Given the description of an element on the screen output the (x, y) to click on. 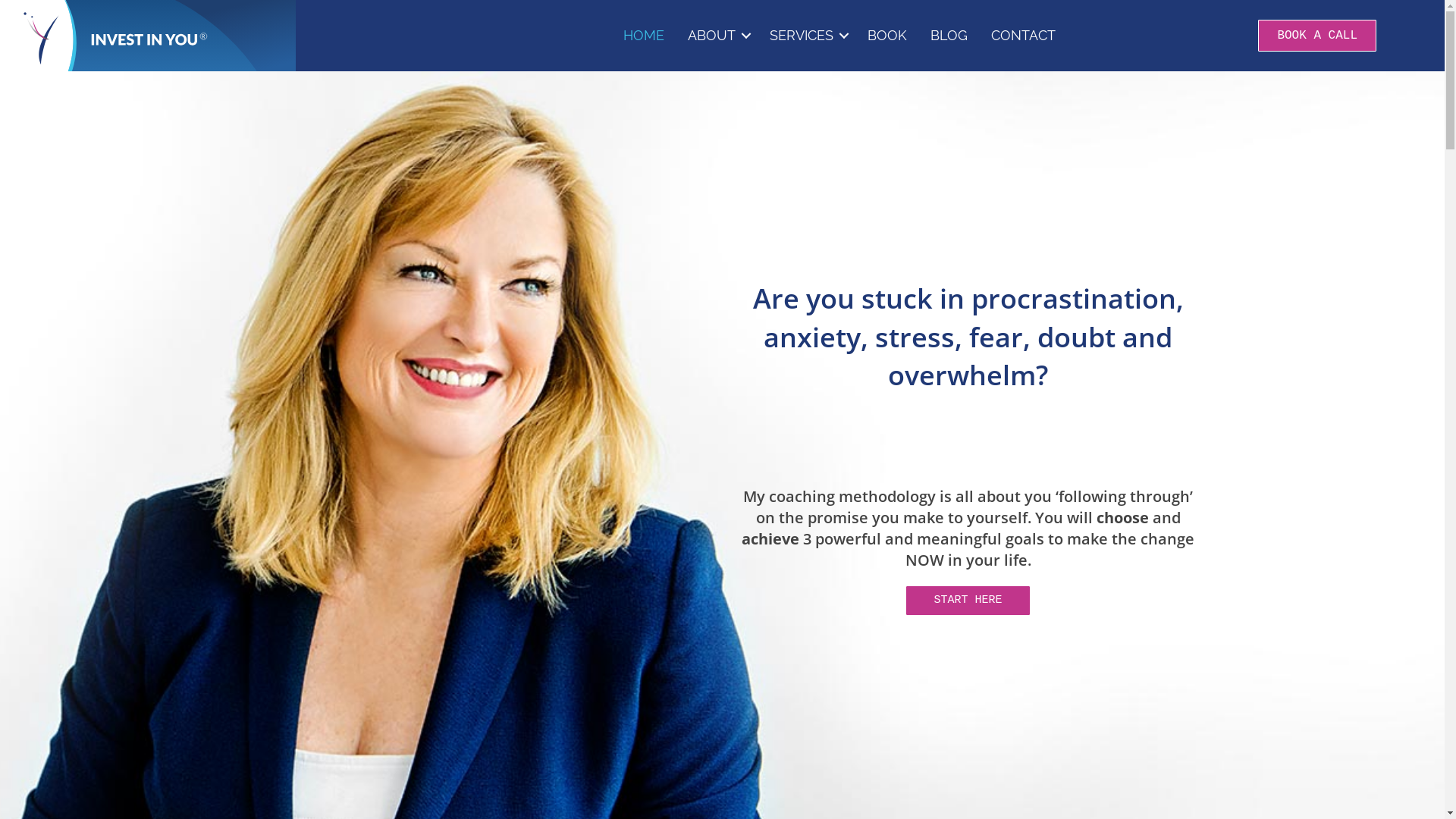
SERVICES Element type: text (806, 35)
CONTACT Element type: text (1022, 35)
HOME Element type: text (643, 35)
ABOUT Element type: text (716, 35)
BOOK A CALL Element type: text (1317, 35)
BLOG Element type: text (949, 35)
START HERE Element type: text (967, 600)
BOOK Element type: text (887, 35)
